Given the description of an element on the screen output the (x, y) to click on. 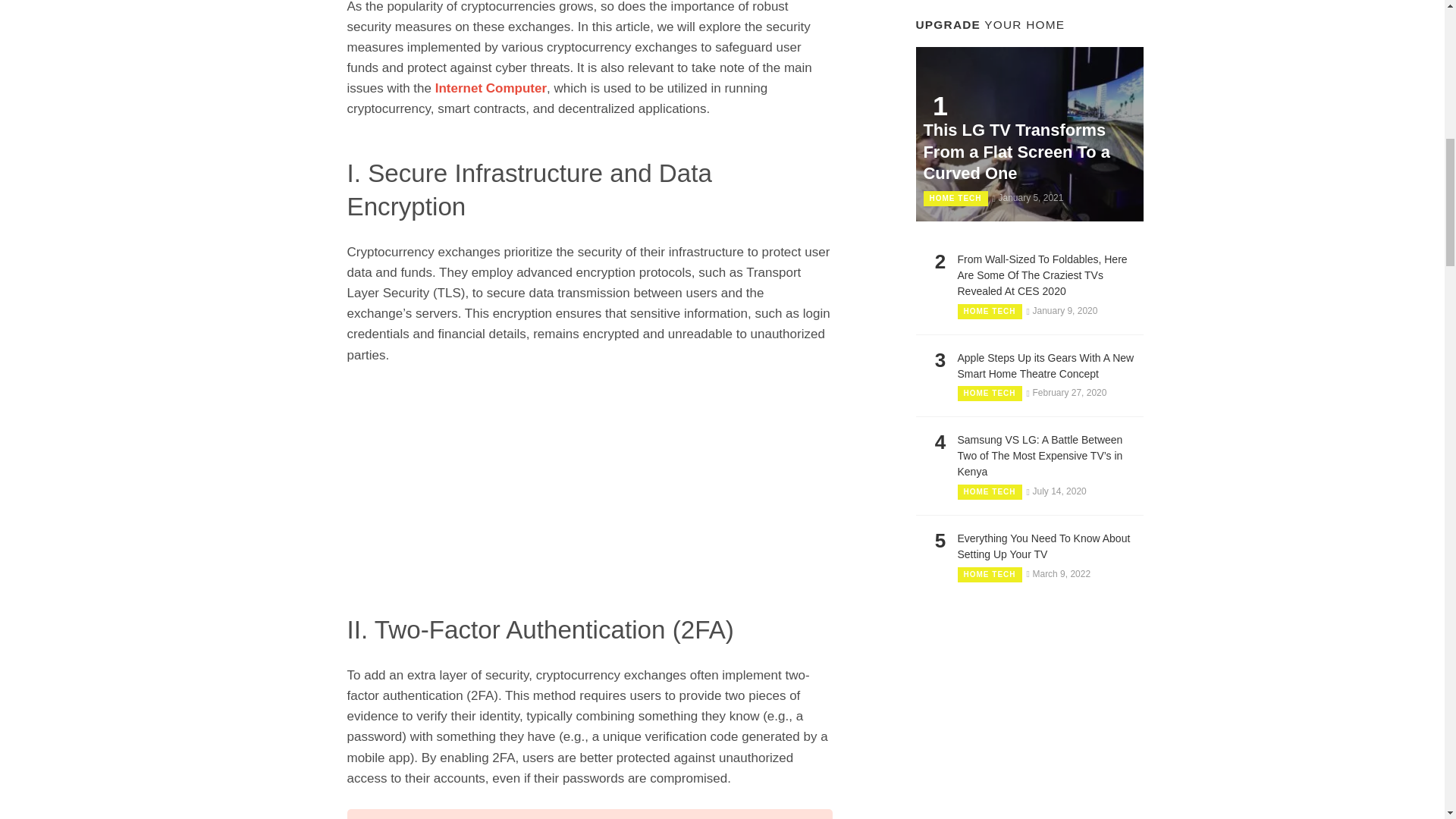
January 5, 2021 at 11:55 am (1026, 197)
March 9, 2022 at 2:46 pm (1058, 573)
January 9, 2020 at 12:17 pm (1061, 310)
July 14, 2020 at 4:07 pm (1056, 491)
Internet Computer (491, 88)
February 27, 2020 at 11:32 am (1066, 392)
